Given the description of an element on the screen output the (x, y) to click on. 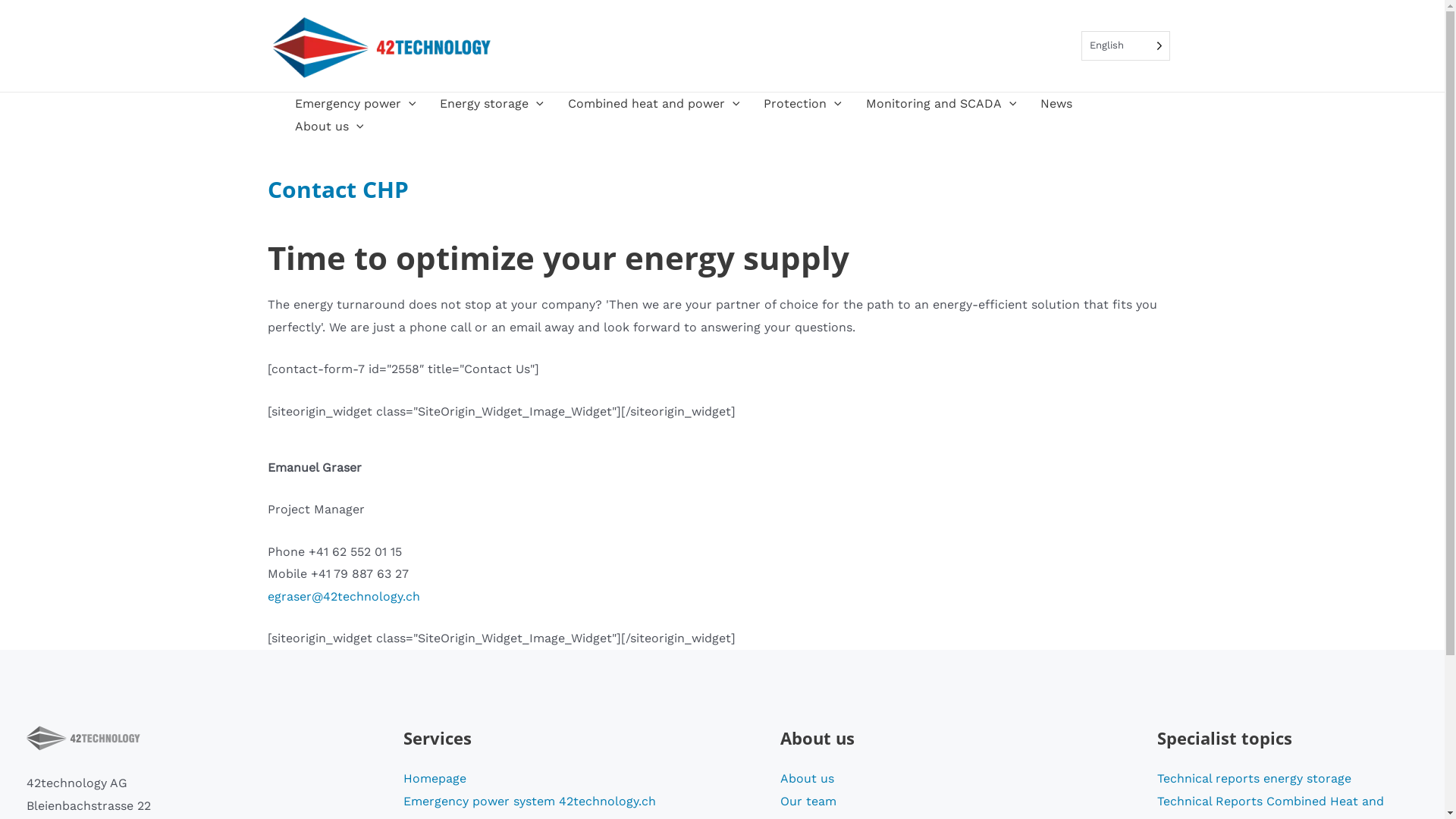
About us Element type: text (807, 778)
Monitoring and SCADA Element type: text (941, 103)
Energy storage Element type: text (491, 103)
Homepage Element type: text (434, 778)
Emergency power Element type: text (354, 103)
Protection Element type: text (802, 103)
Combined heat and power Element type: text (653, 103)
News Element type: text (1056, 103)
Our team Element type: text (808, 800)
Emergency power system 42technology.ch Element type: text (529, 800)
About us Element type: text (328, 126)
egraser@42technology.ch Element type: text (342, 596)
Technical reports energy storage Element type: text (1254, 778)
